Given the description of an element on the screen output the (x, y) to click on. 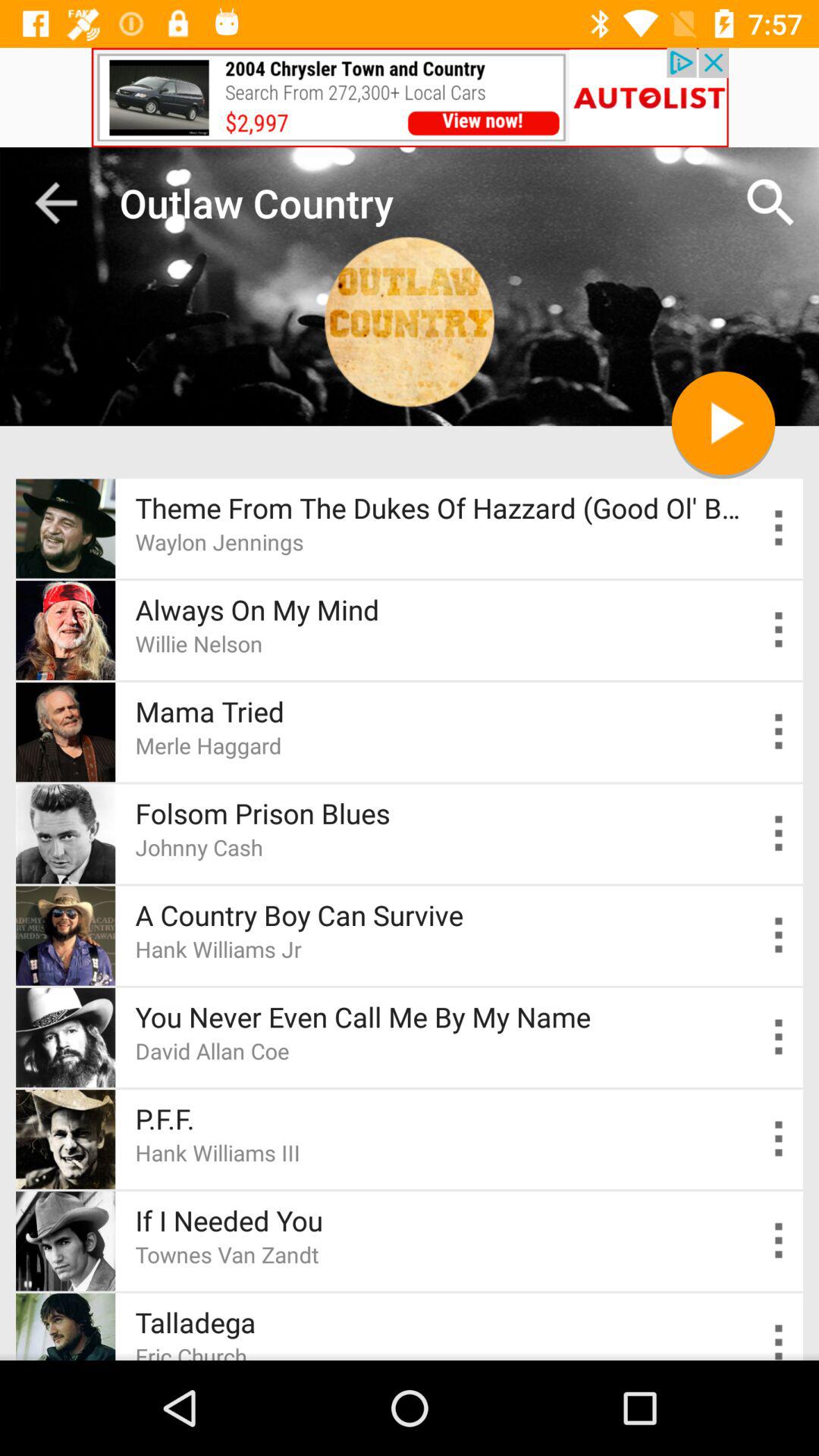
open more settings (779, 731)
